Given the description of an element on the screen output the (x, y) to click on. 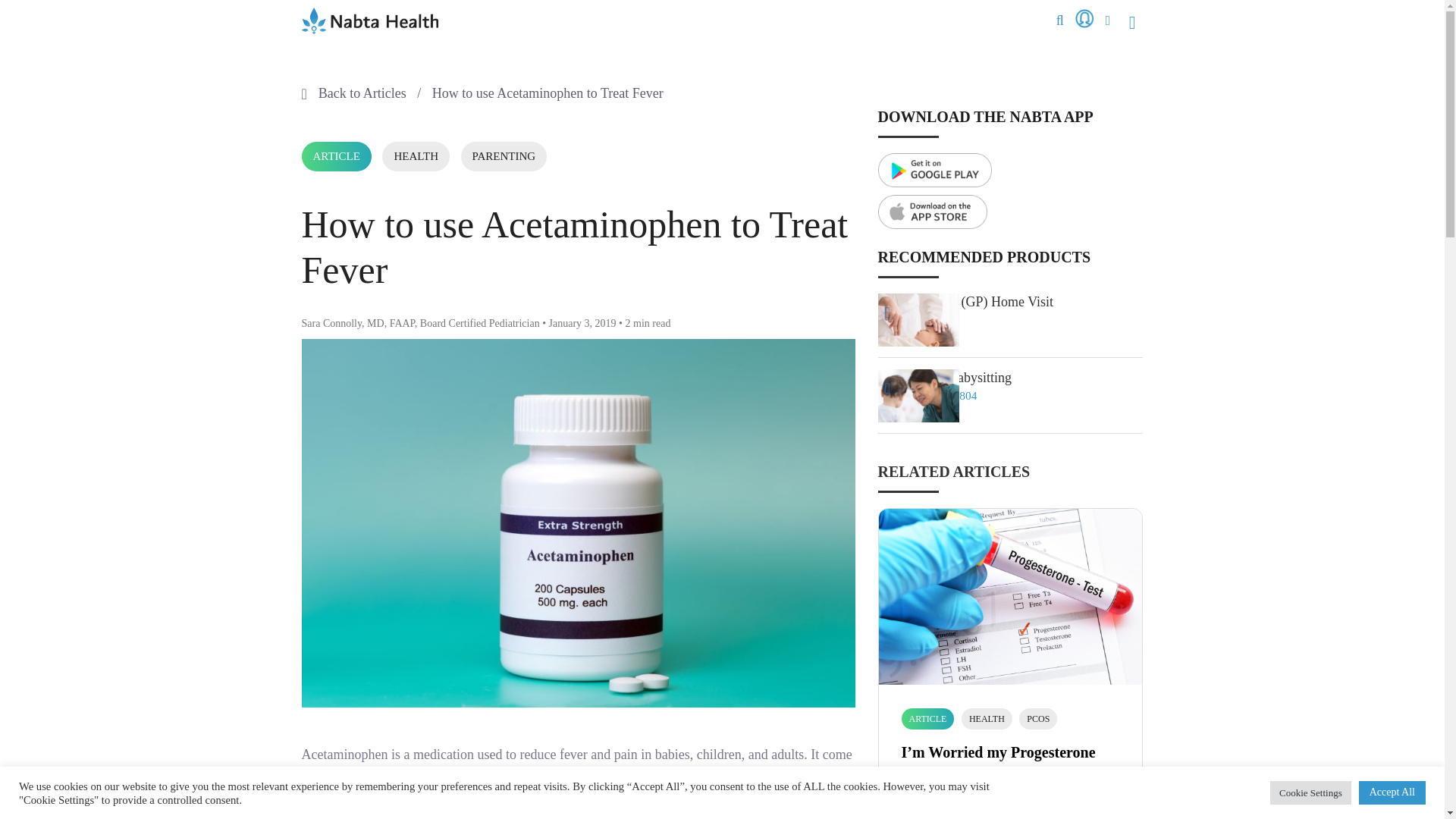
Search (1122, 52)
